Given the description of an element on the screen output the (x, y) to click on. 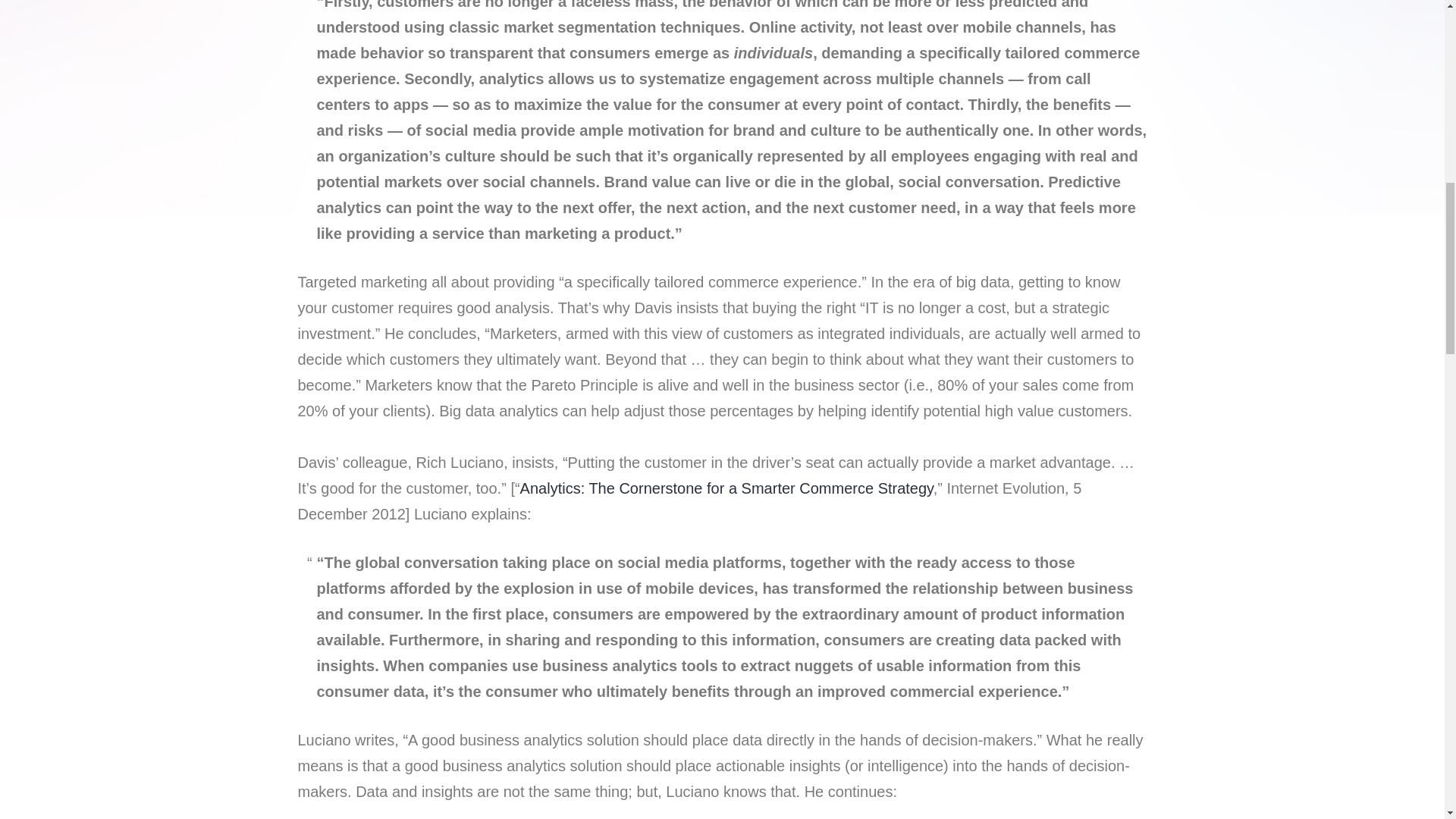
Analytics: The Cornerstone for a Smarter Commerce Strategy (726, 487)
